Given the description of an element on the screen output the (x, y) to click on. 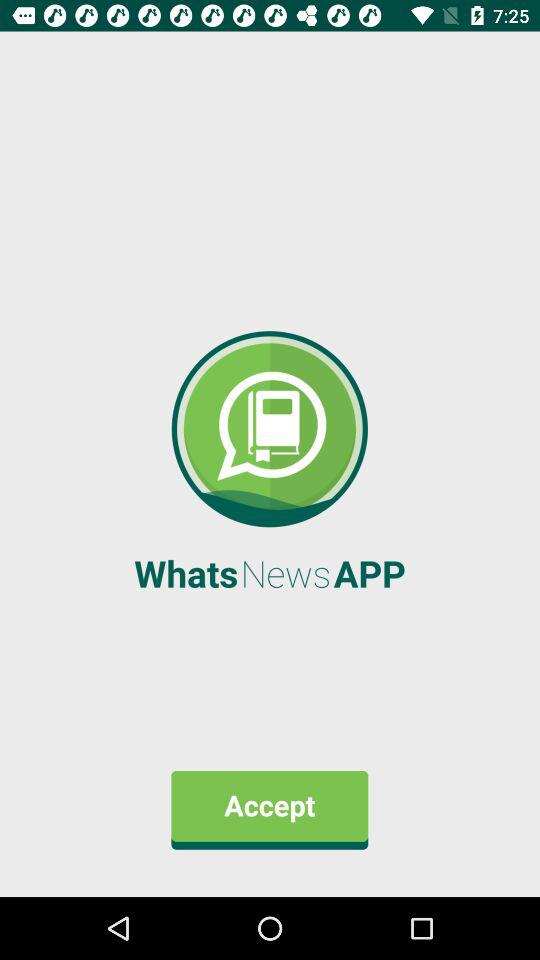
launch app below whats icon (269, 810)
